Given the description of an element on the screen output the (x, y) to click on. 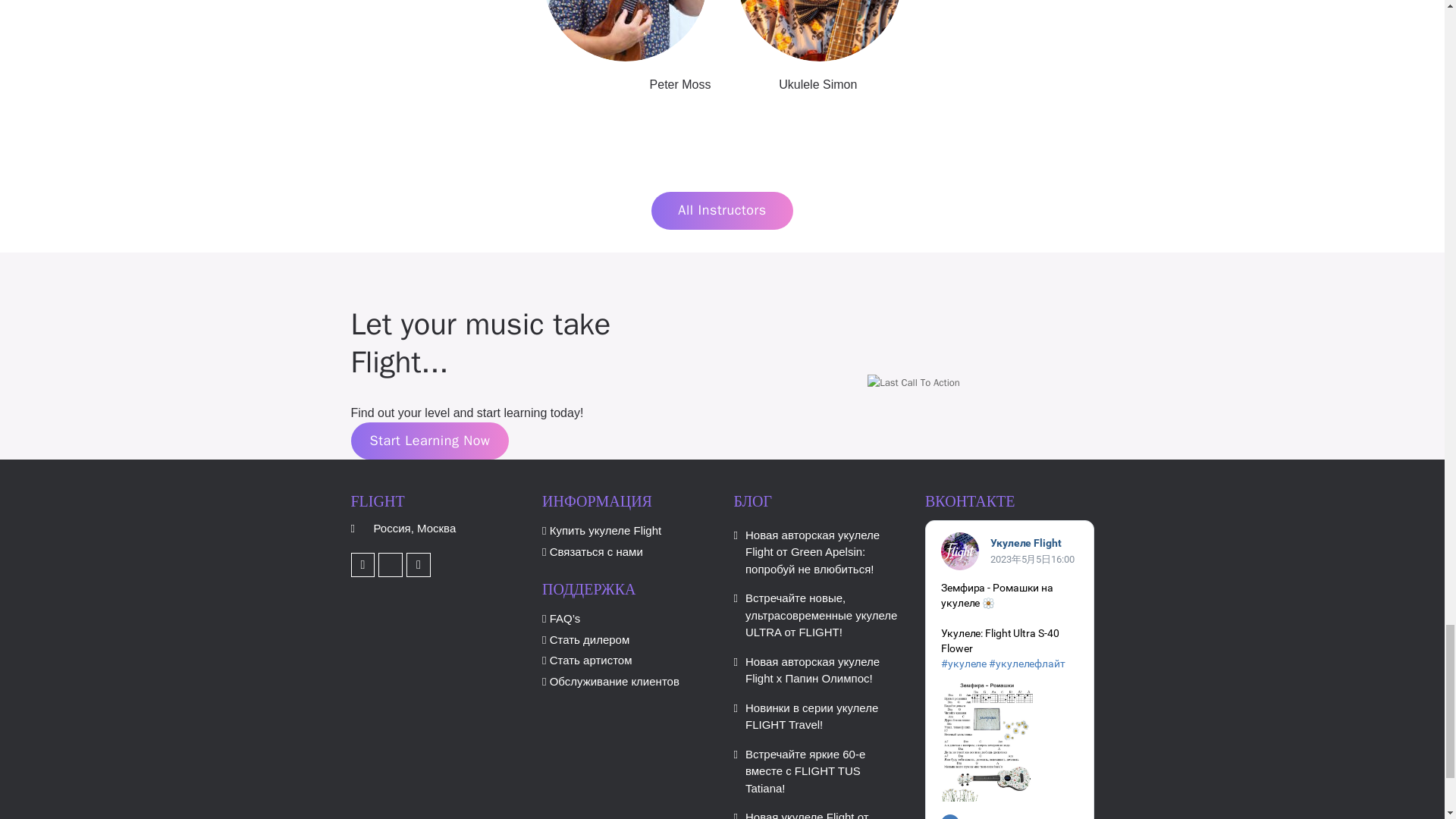
Start Learning Now (429, 441)
All Instructors (721, 210)
Youtube (362, 564)
